Given the description of an element on the screen output the (x, y) to click on. 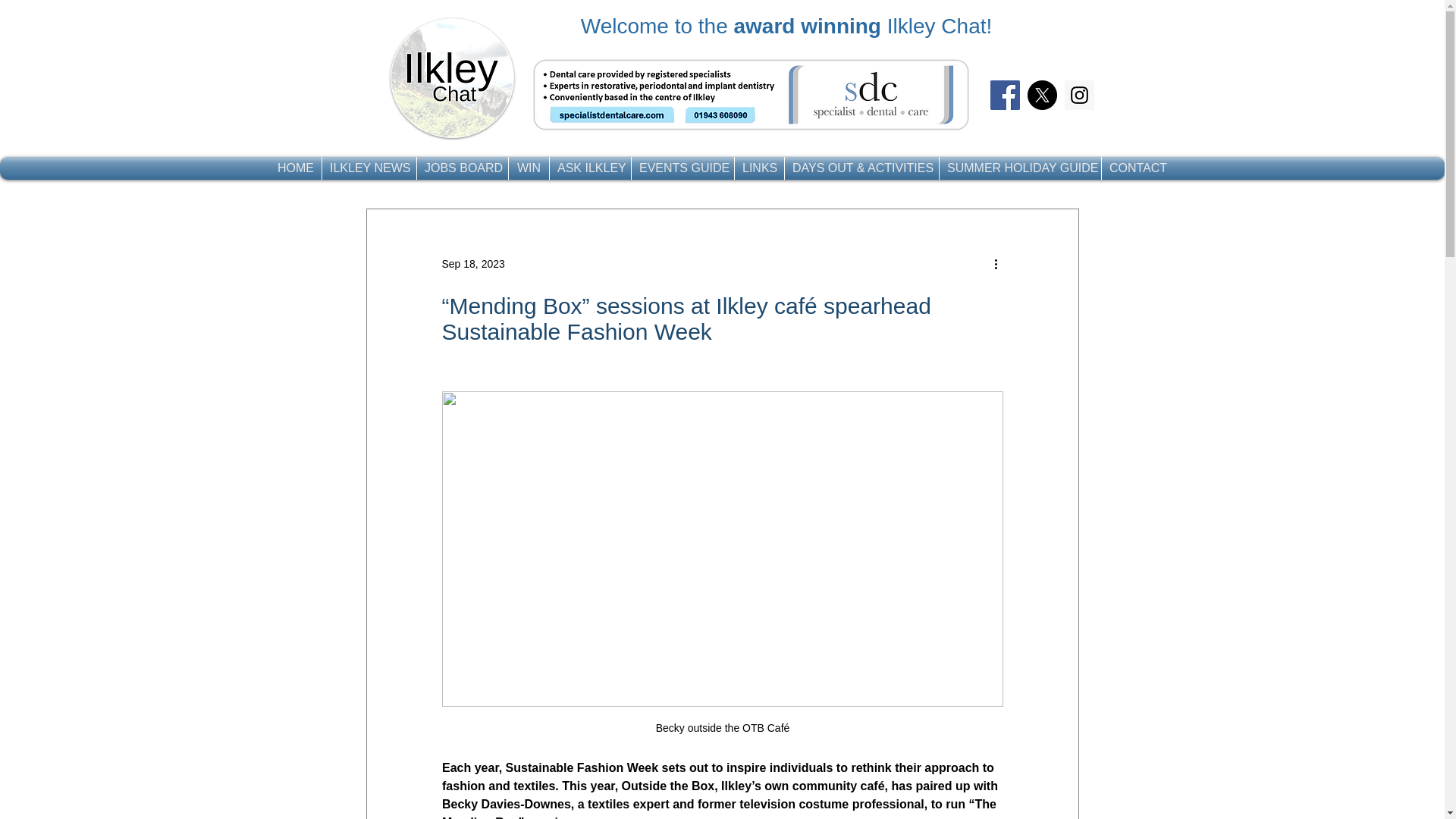
JOBS BOARD (462, 168)
CONTACT (1138, 168)
WIN (528, 168)
HOME (295, 168)
LINKS (759, 168)
EVENTS GUIDE (682, 168)
Sep 18, 2023 (472, 263)
ASK ILKLEY (590, 168)
SUMMER HOLIDAY GUIDE (1019, 168)
